Given the description of an element on the screen output the (x, y) to click on. 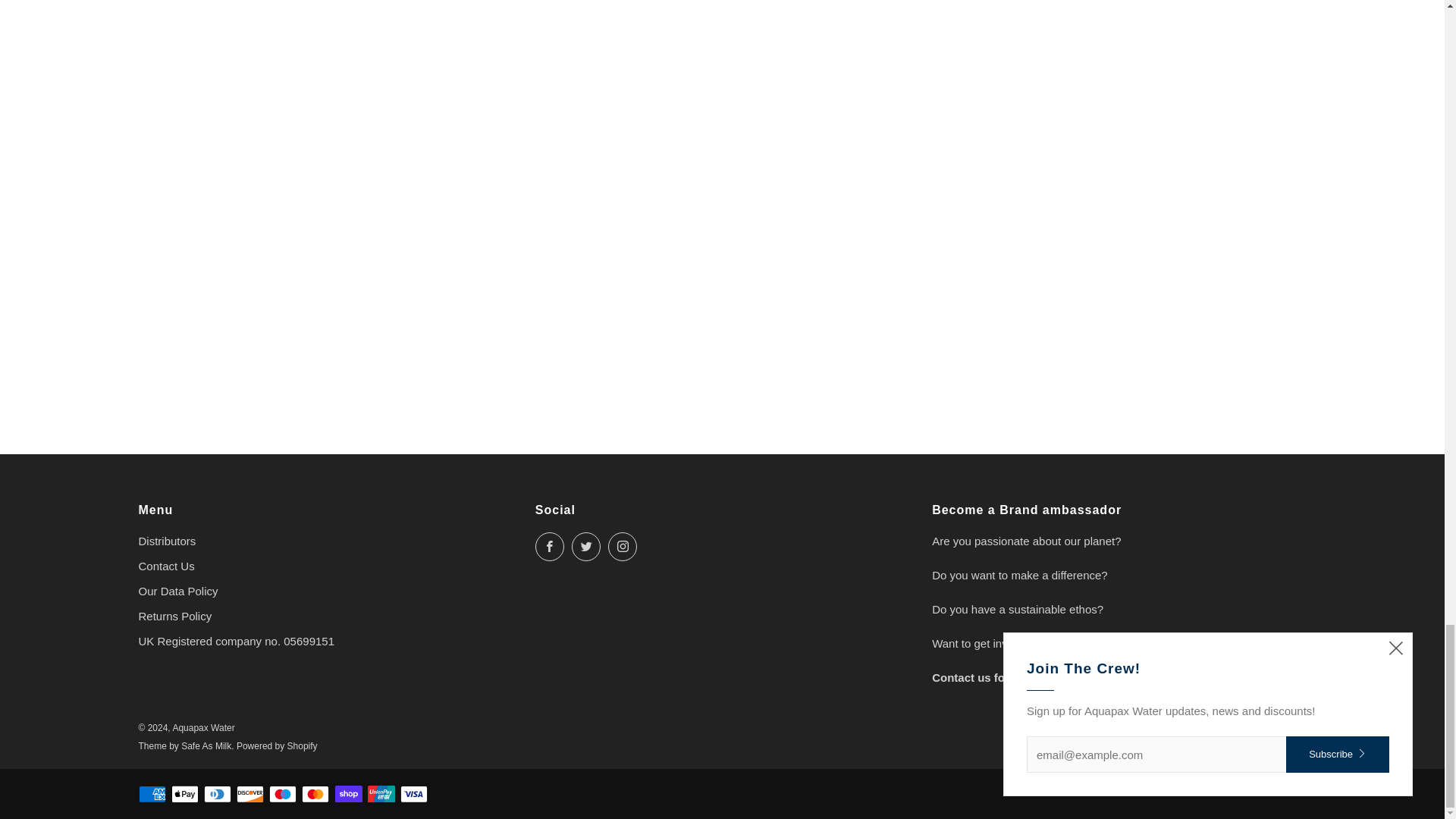
Apple Pay (184, 794)
Shop Pay (348, 794)
Mastercard (315, 794)
Visa (414, 794)
Maestro (283, 794)
Discover (249, 794)
American Express (151, 794)
Diners Club (217, 794)
Union Pay (381, 794)
